Given the description of an element on the screen output the (x, y) to click on. 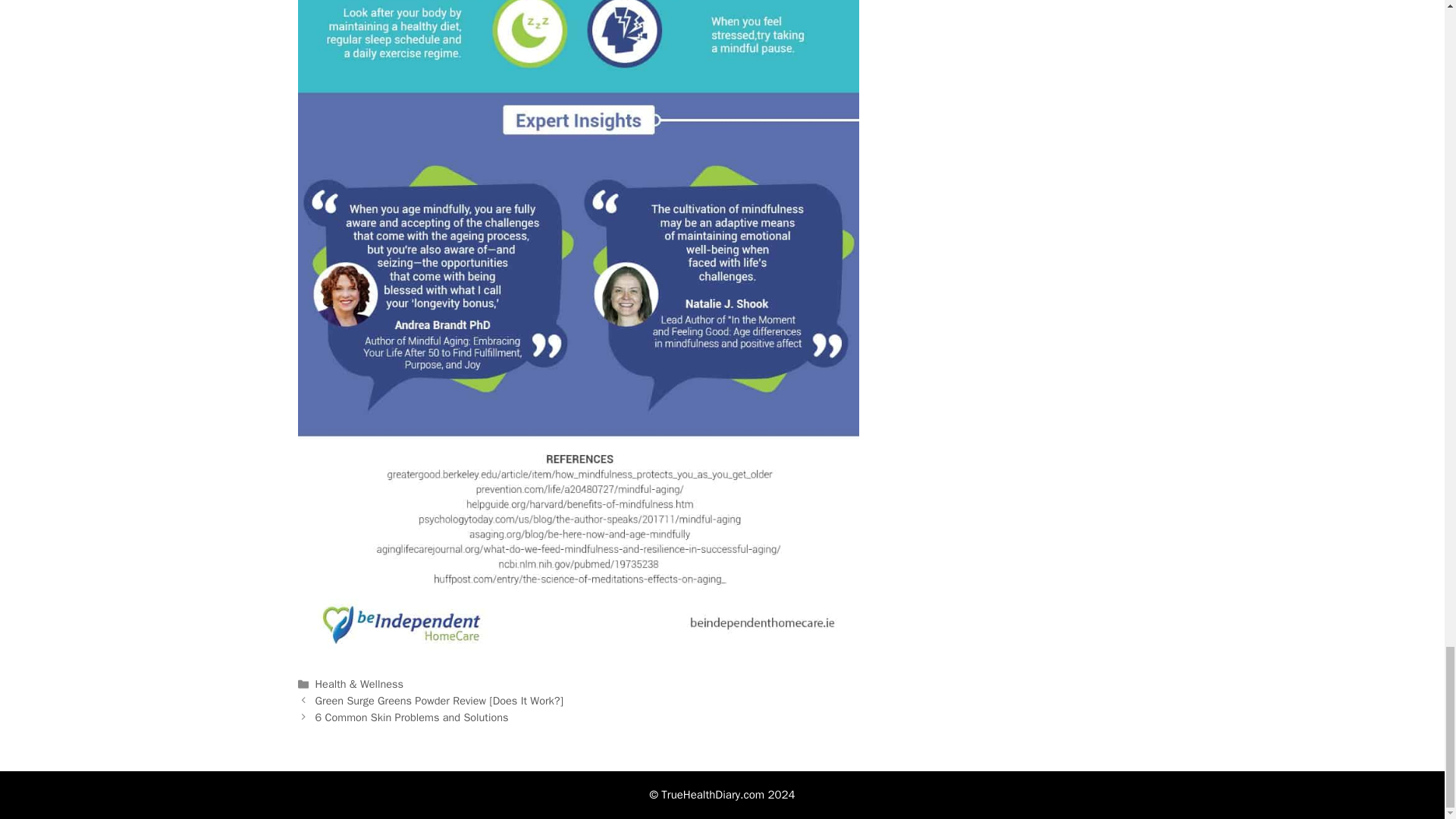
Next (411, 716)
6 Common Skin Problems and Solutions (411, 716)
Previous (439, 700)
